Given the description of an element on the screen output the (x, y) to click on. 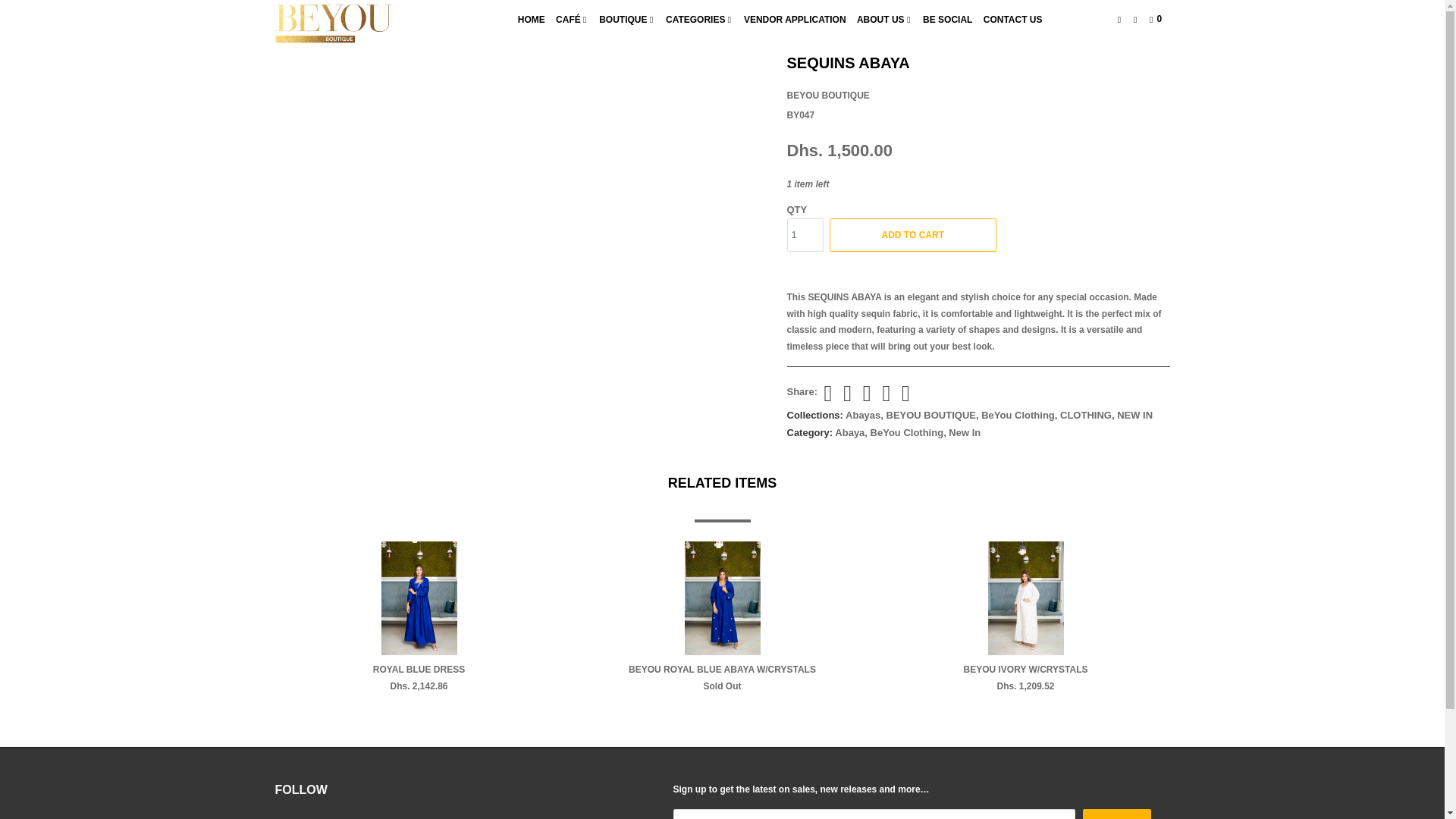
1 (805, 234)
BEYOU Boutique Dubai (286, 28)
Sign Up (1116, 814)
BEYOU Boutique Dubai (352, 23)
Products (326, 28)
BEYOU BOUTIQUE (828, 95)
